Given the description of an element on the screen output the (x, y) to click on. 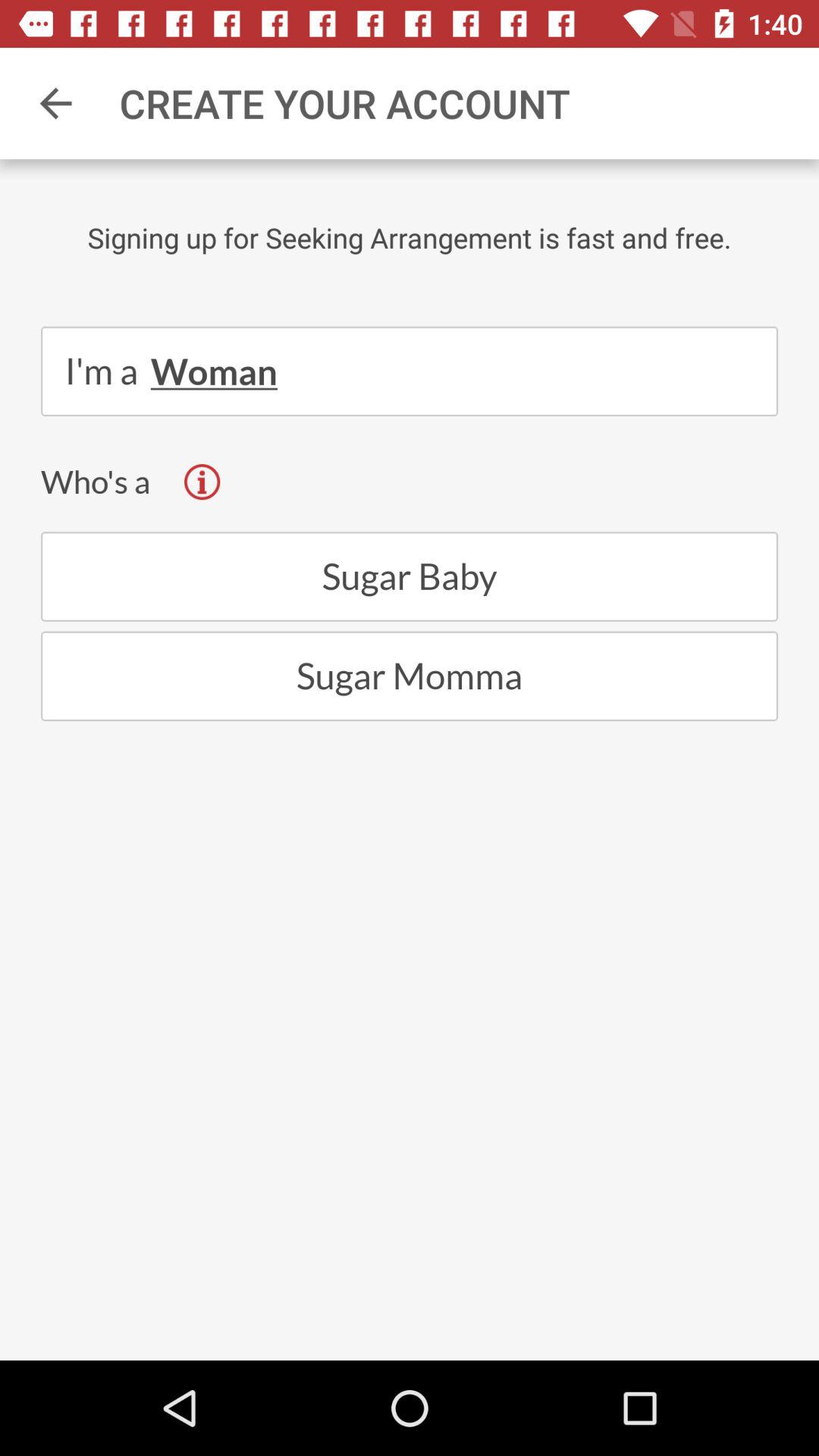
tap icon to the left of create your account app (55, 103)
